Given the description of an element on the screen output the (x, y) to click on. 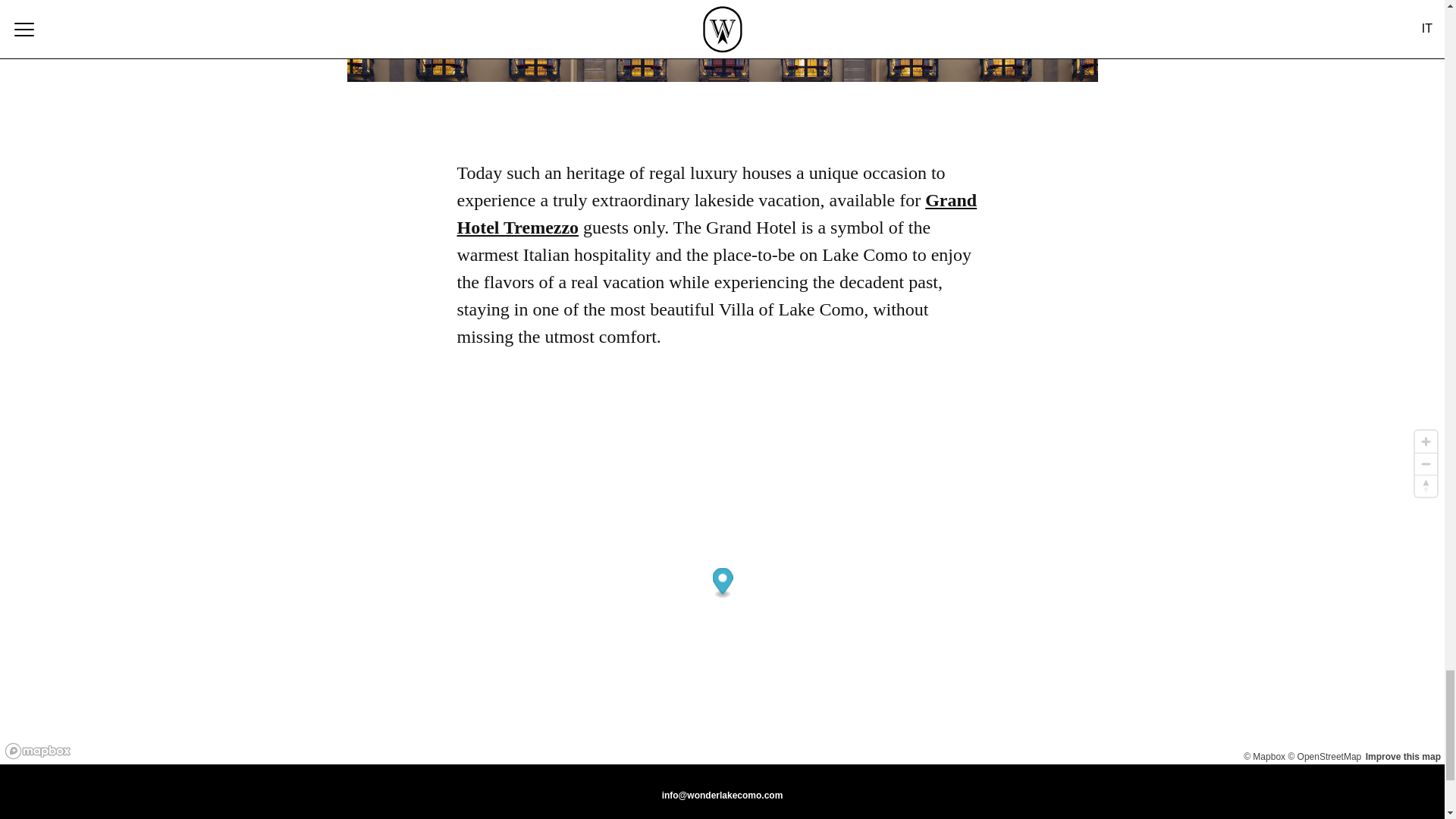
Improve this map (1403, 756)
Mapbox (1264, 756)
Zoom in (1426, 441)
OpenStreetMap (1324, 756)
Reset bearing to north (1426, 485)
Zoom out (1426, 463)
Improve this map (1403, 756)
Grand Hotel Tremezzo (716, 213)
